Given the description of an element on the screen output the (x, y) to click on. 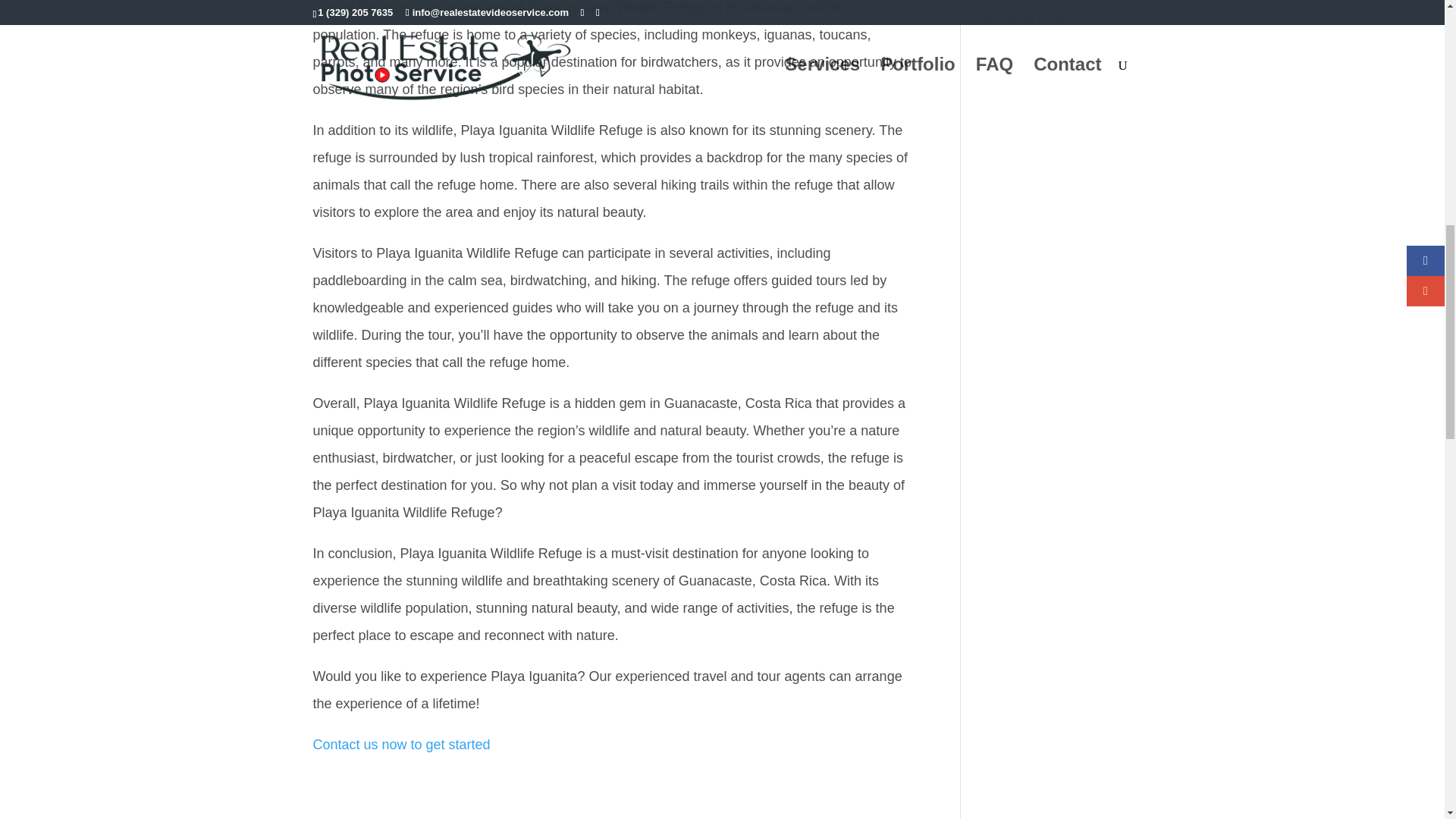
Contact us now to get started (401, 744)
Slow and Steady: Discovering the Sloths of Costa Rica (1051, 12)
